Given the description of an element on the screen output the (x, y) to click on. 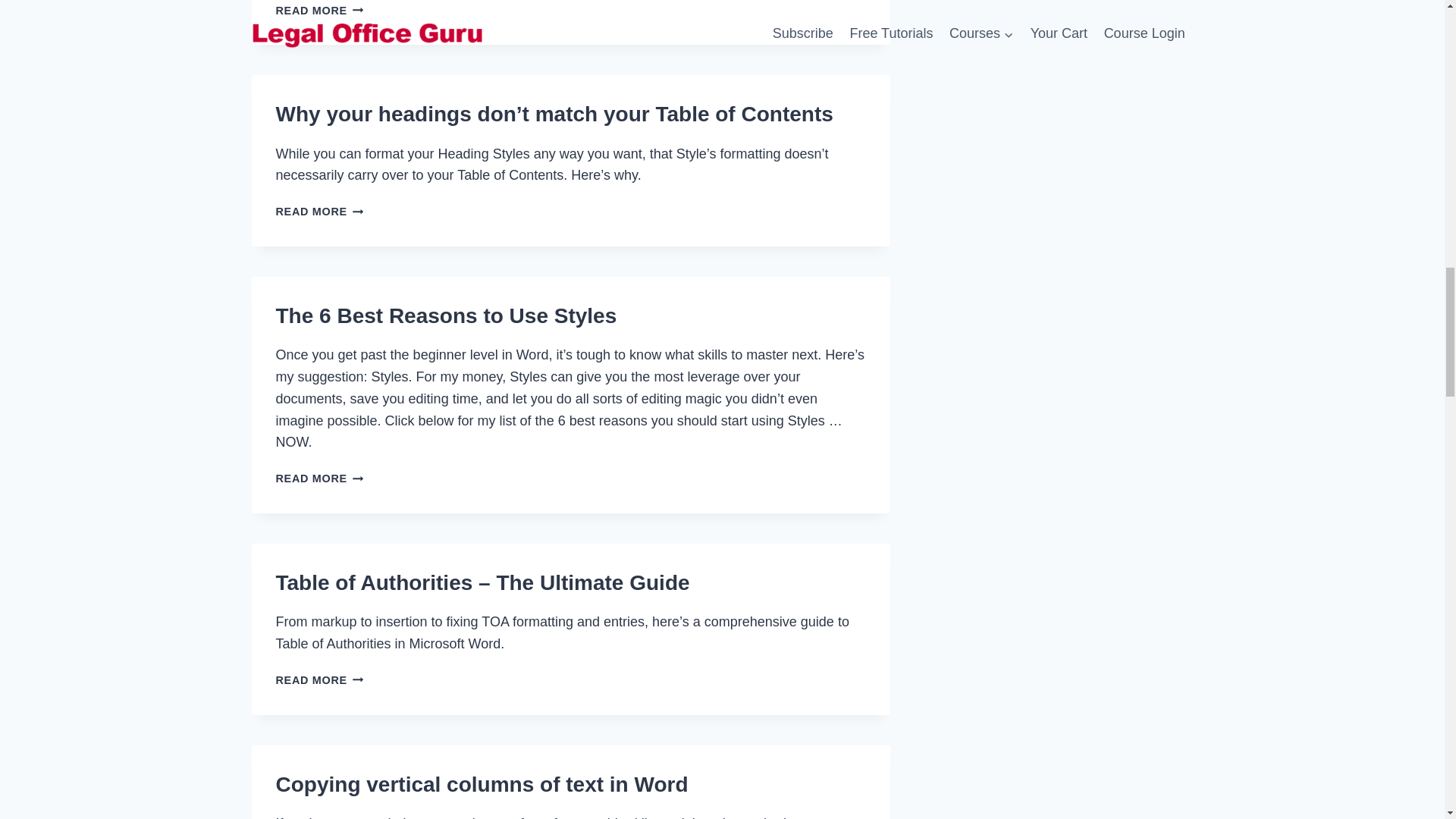
Copying vertical columns of text in Word (320, 478)
The 6 Best Reasons to Use Styles (320, 10)
